Given the description of an element on the screen output the (x, y) to click on. 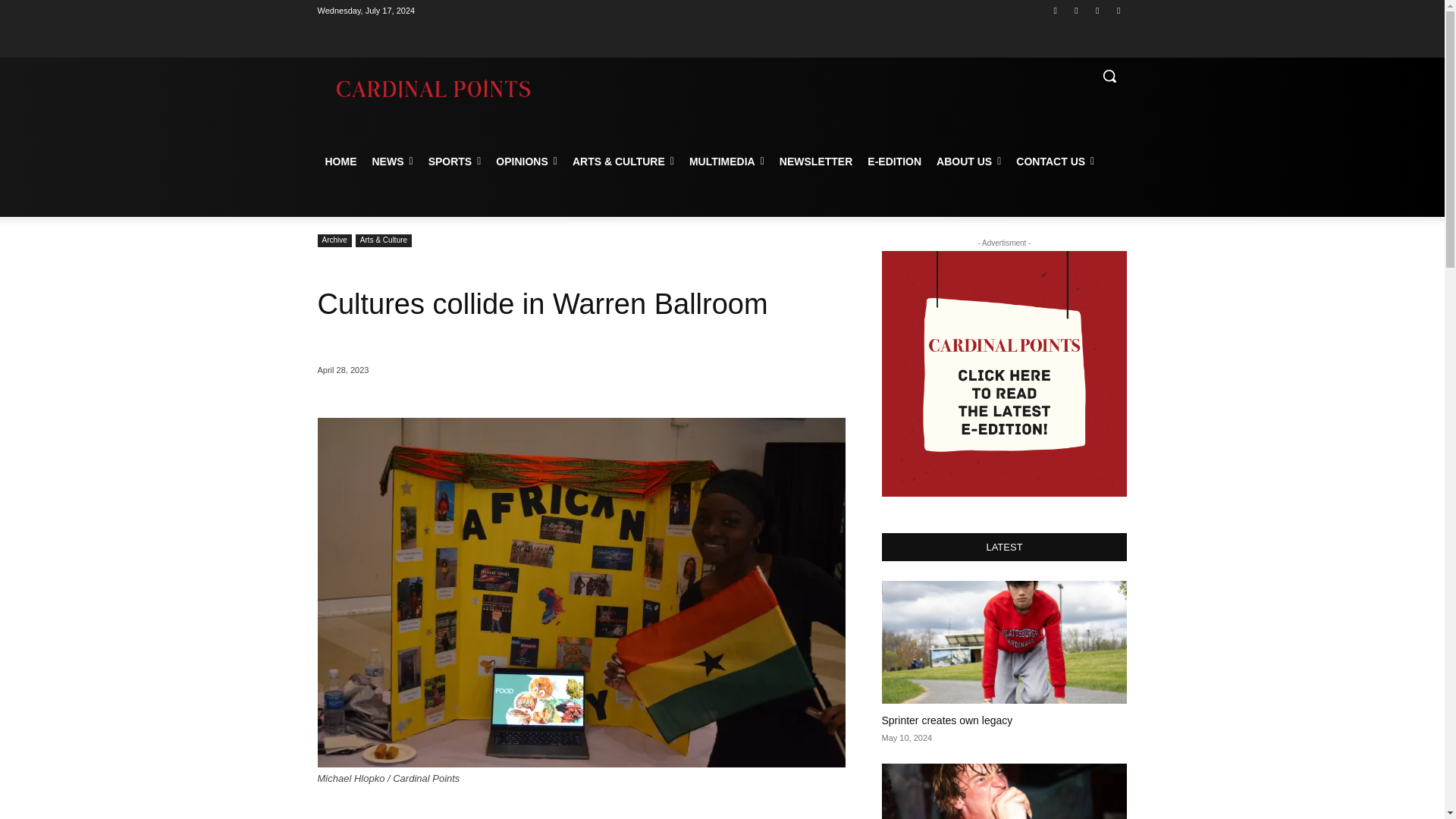
HOME (340, 161)
Instagram (1075, 9)
Twitter (1097, 9)
NEWS (392, 161)
Facebook (1055, 9)
Youtube (1117, 9)
SPORTS (454, 161)
